Given the description of an element on the screen output the (x, y) to click on. 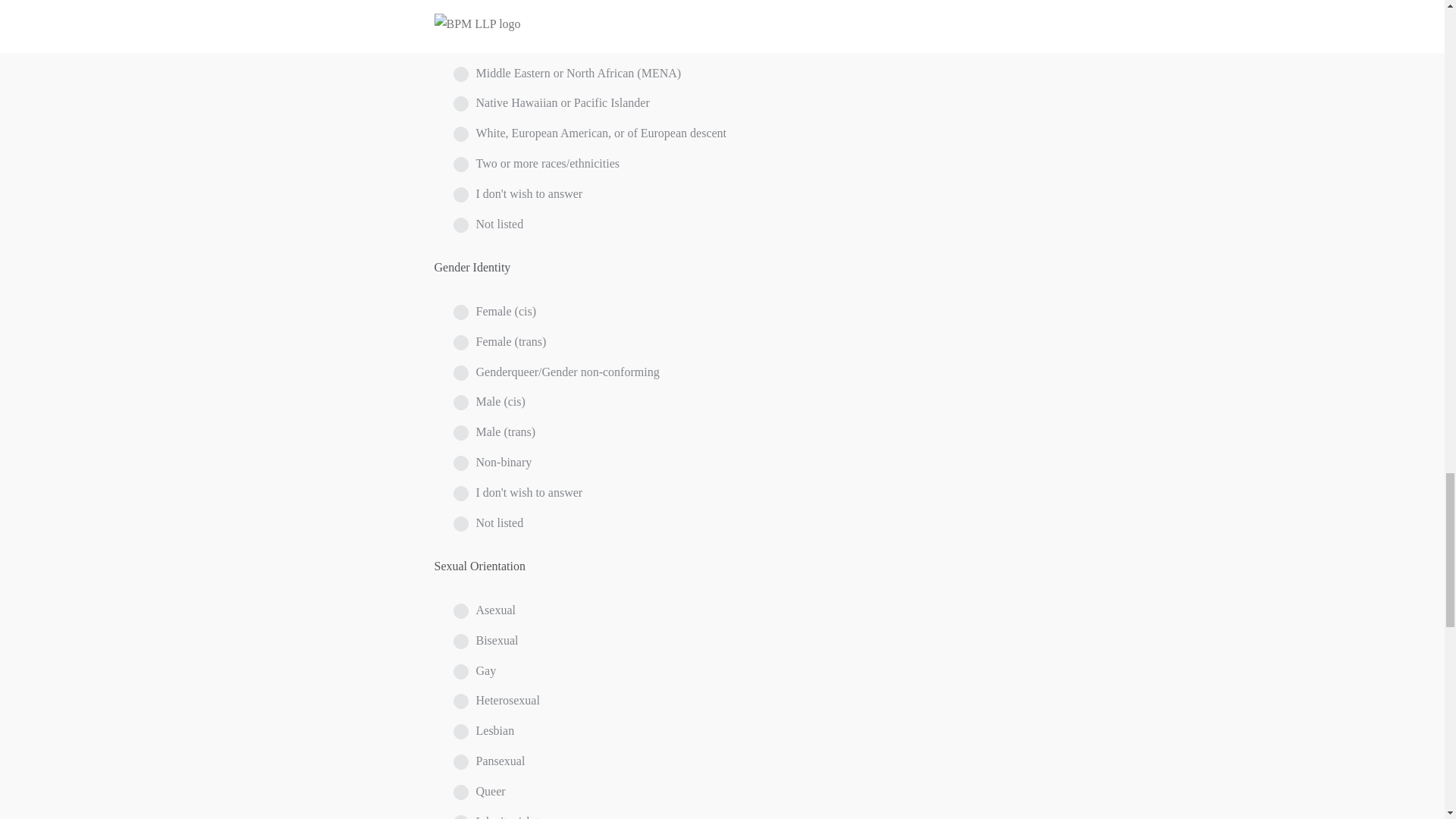
Not listed (460, 224)
White, European American, or of European descent (460, 133)
I don't wish to answer (460, 194)
Native Hawaiian or Pacific Islander (460, 103)
